Given the description of an element on the screen output the (x, y) to click on. 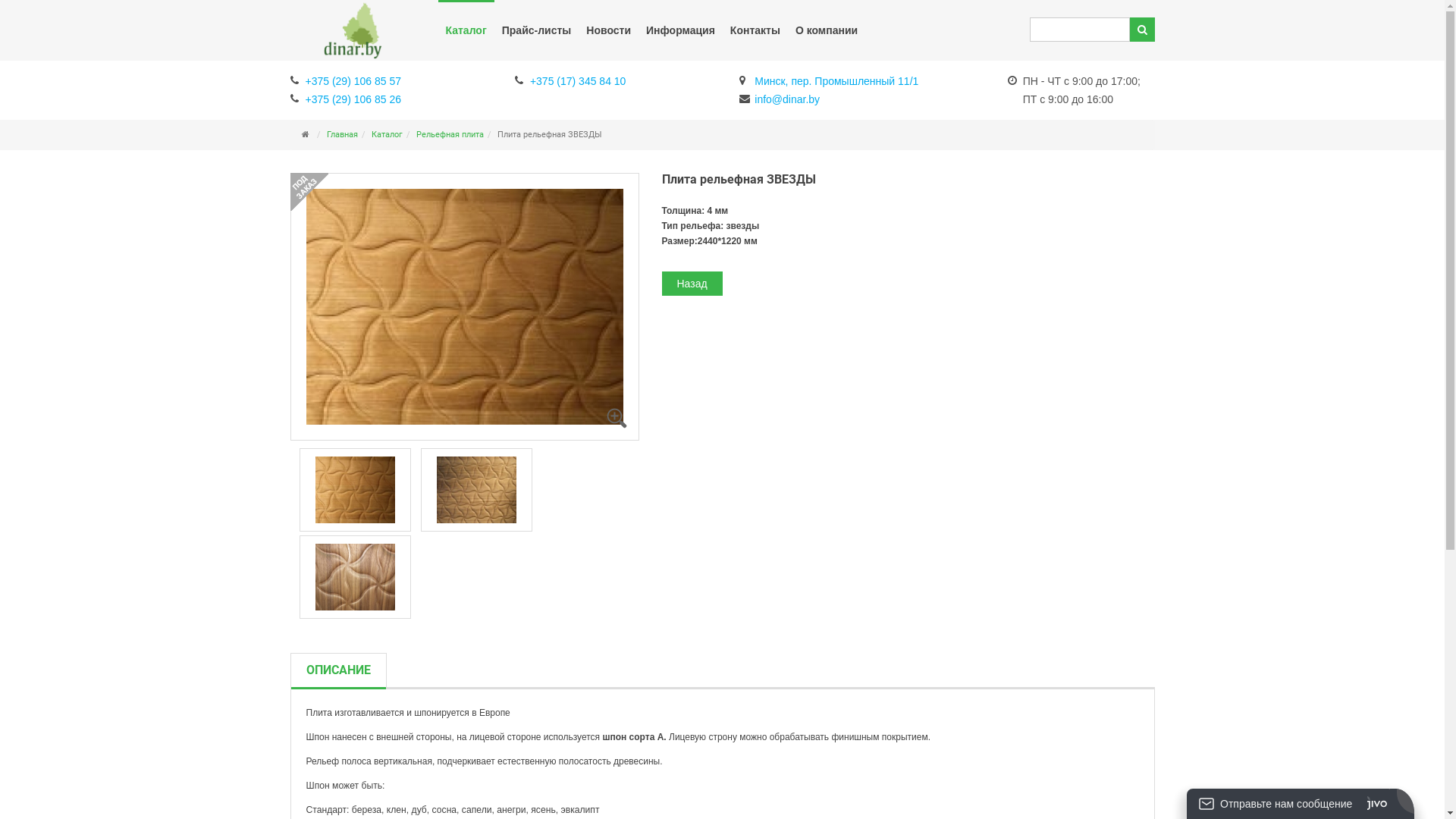
+375 (17) 345 84 10 Element type: text (570, 79)
+375 (29) 106 85 57 Element type: text (345, 79)
info@dinar.by Element type: text (779, 97)
+375 (29) 106 85 26 Element type: text (345, 97)
